Given the description of an element on the screen output the (x, y) to click on. 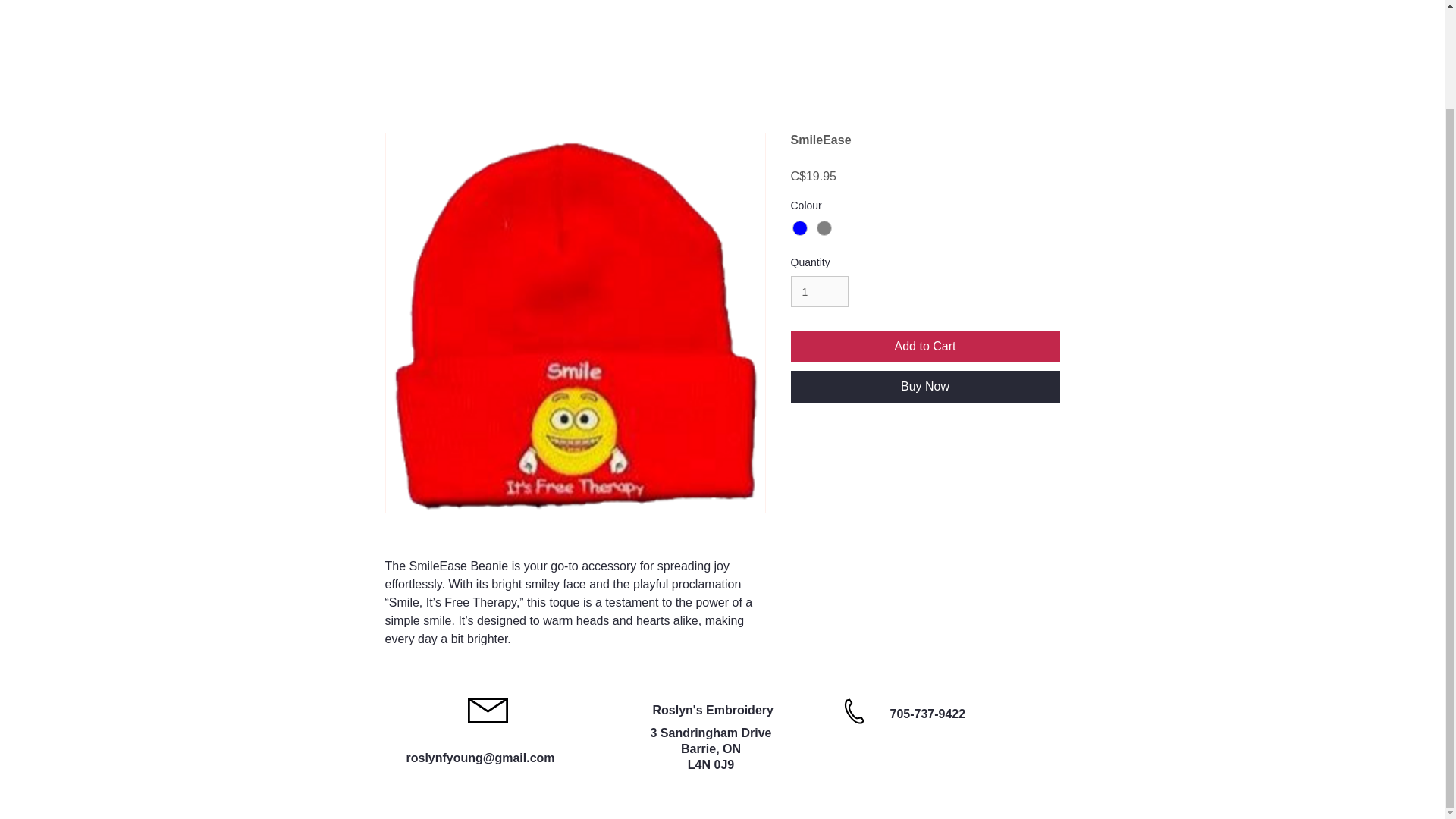
1 (818, 291)
Add to Cart (924, 346)
Buy Now (924, 386)
